Given the description of an element on the screen output the (x, y) to click on. 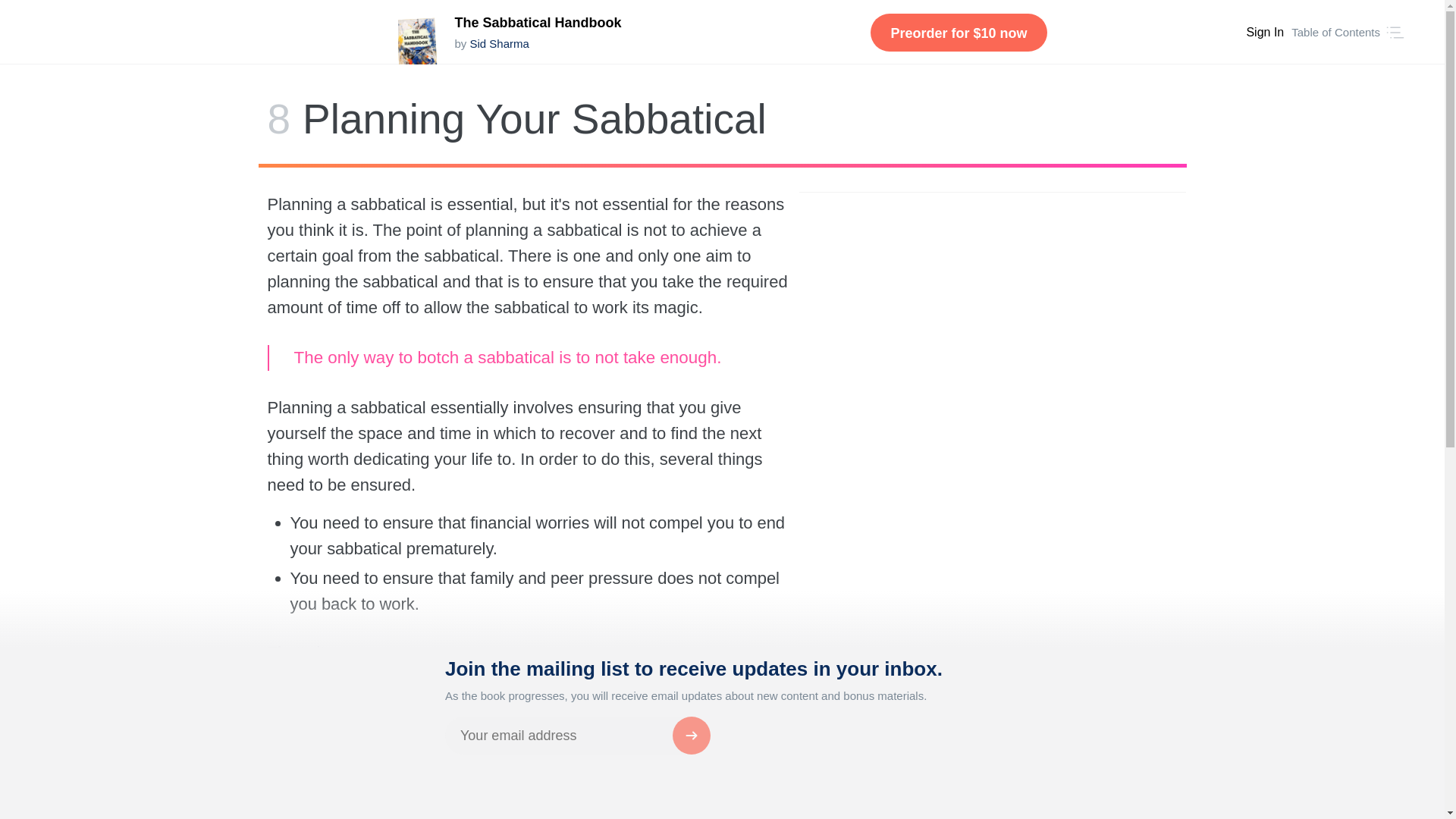
The Sabbatical Handbook (537, 22)
Table of Contents (1335, 31)
Sign In (1265, 32)
